Given the description of an element on the screen output the (x, y) to click on. 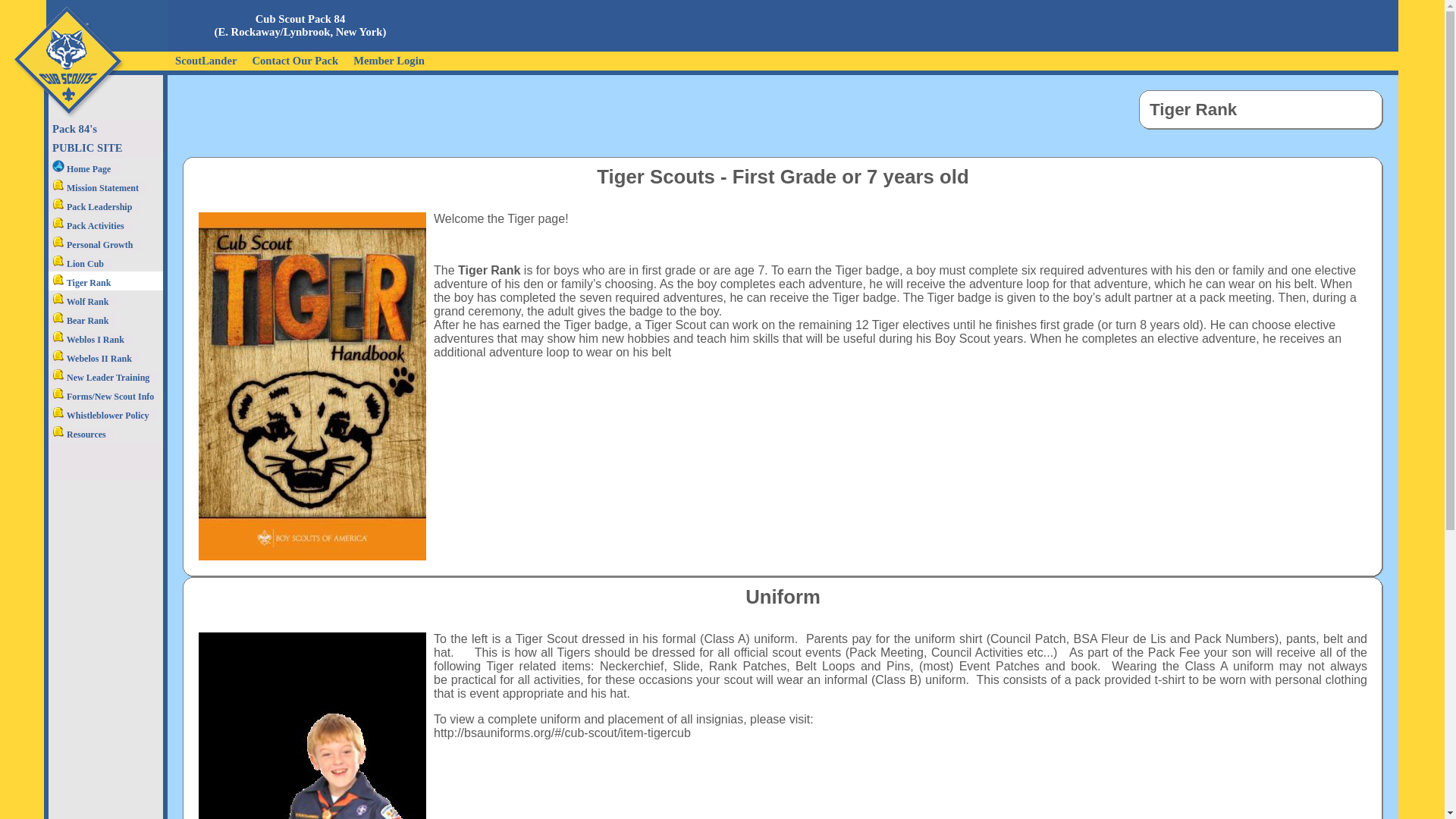
Pack Leadership (93, 206)
Weblos I Rank (90, 338)
Contact Our Pack (295, 58)
Webelos II Rank (93, 357)
Resources (80, 434)
ScoutLander (205, 58)
Pack Activities (90, 225)
Whistleblower Policy (102, 414)
Personal Growth (93, 244)
Home Page (82, 168)
Mission Statement (97, 186)
Wolf Rank (82, 300)
New Leader Training (102, 376)
Member Login (389, 58)
Bear Rank (82, 320)
